Given the description of an element on the screen output the (x, y) to click on. 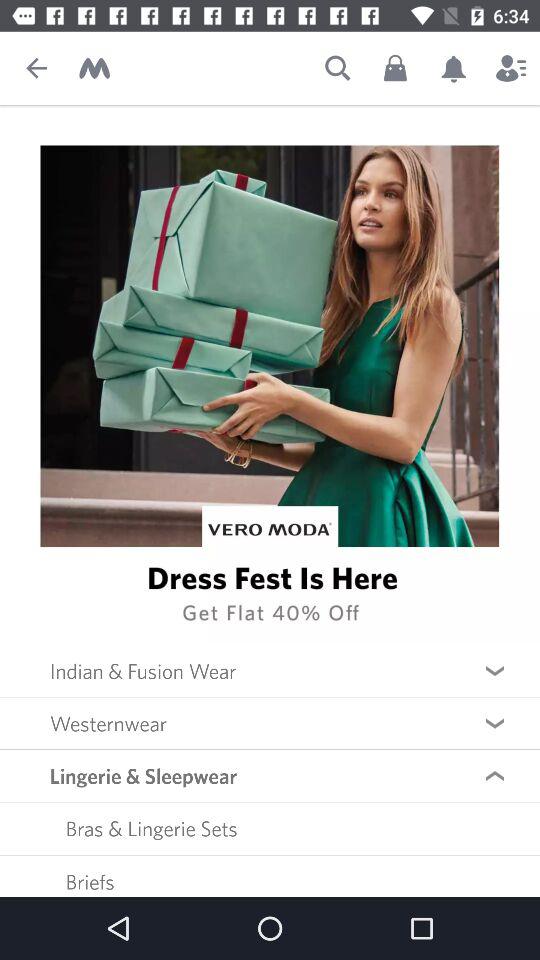
logo (94, 68)
